Given the description of an element on the screen output the (x, y) to click on. 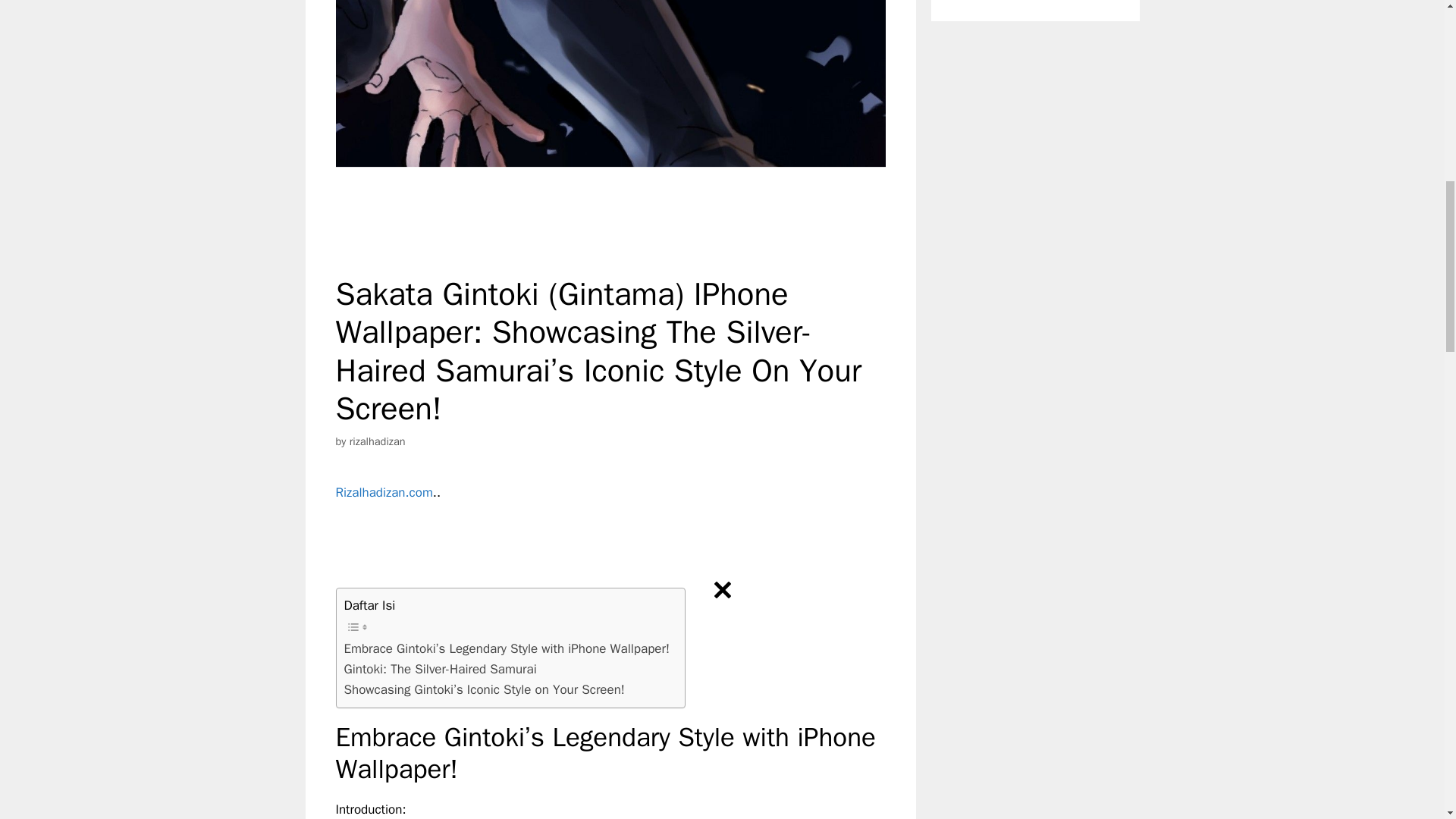
rizalhadizan (377, 440)
Gintoki: The Silver-Haired Samurai (440, 669)
View all posts by rizalhadizan (377, 440)
Gintoki: The Silver-Haired Samurai (440, 669)
Rizalhadizan.com (383, 492)
